Given the description of an element on the screen output the (x, y) to click on. 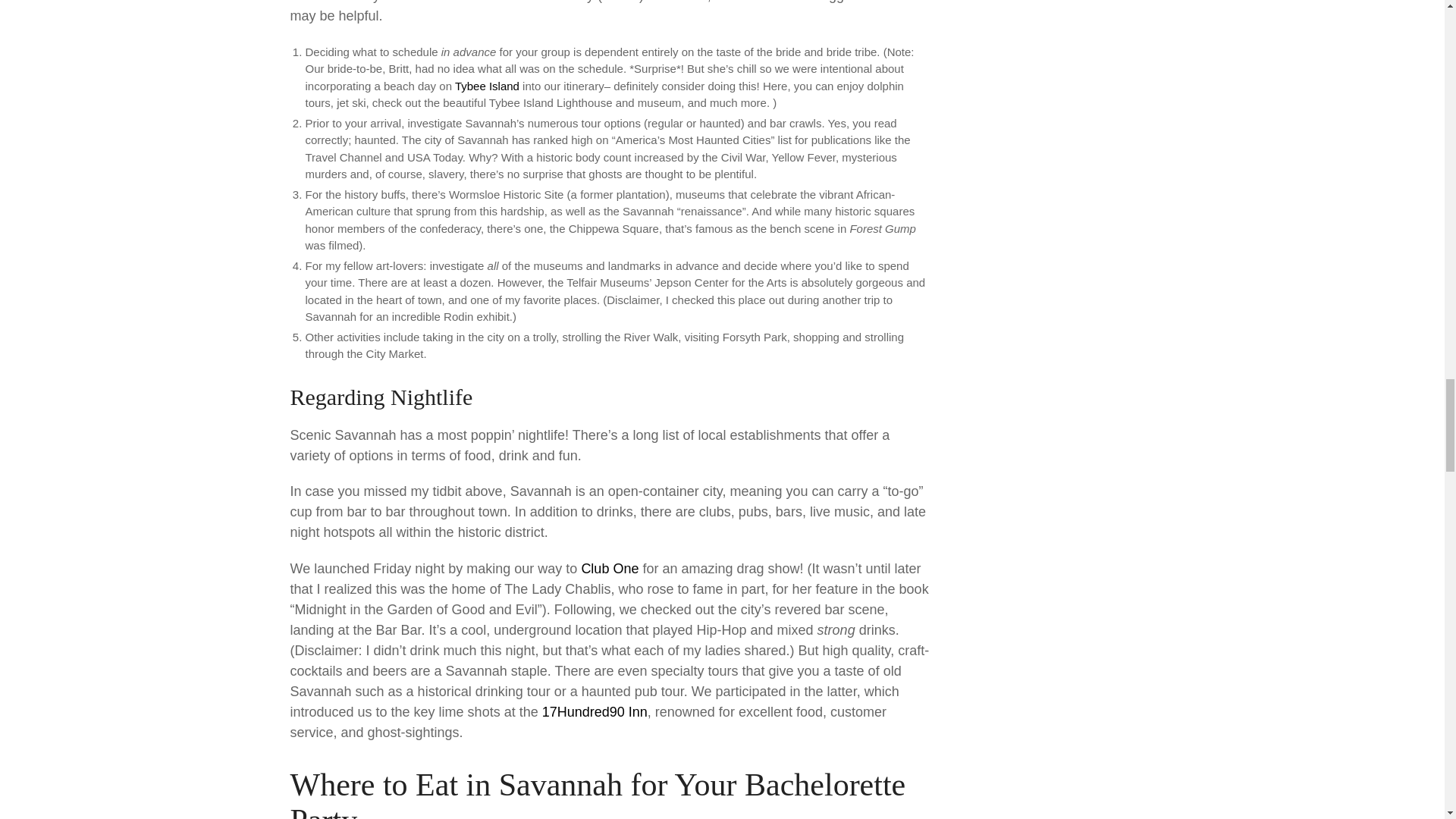
Tybee Island (486, 85)
17Hundred90 Inn (594, 711)
Club One (609, 568)
